Given the description of an element on the screen output the (x, y) to click on. 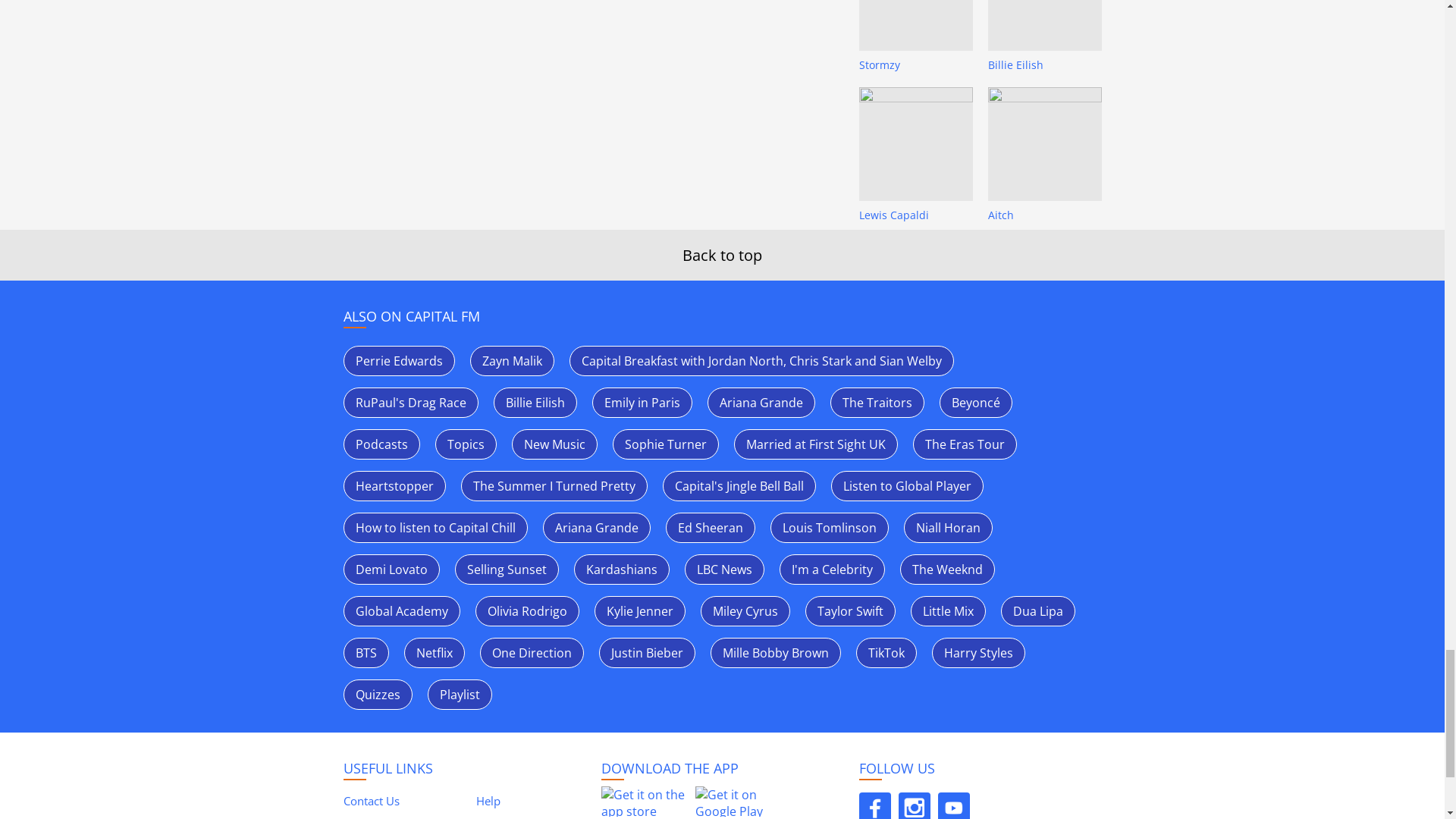
Follow Capital on Youtube (953, 805)
Follow Capital on Instagram (914, 805)
Follow Capital on Facebook (874, 805)
Back to top (721, 254)
